Given the description of an element on the screen output the (x, y) to click on. 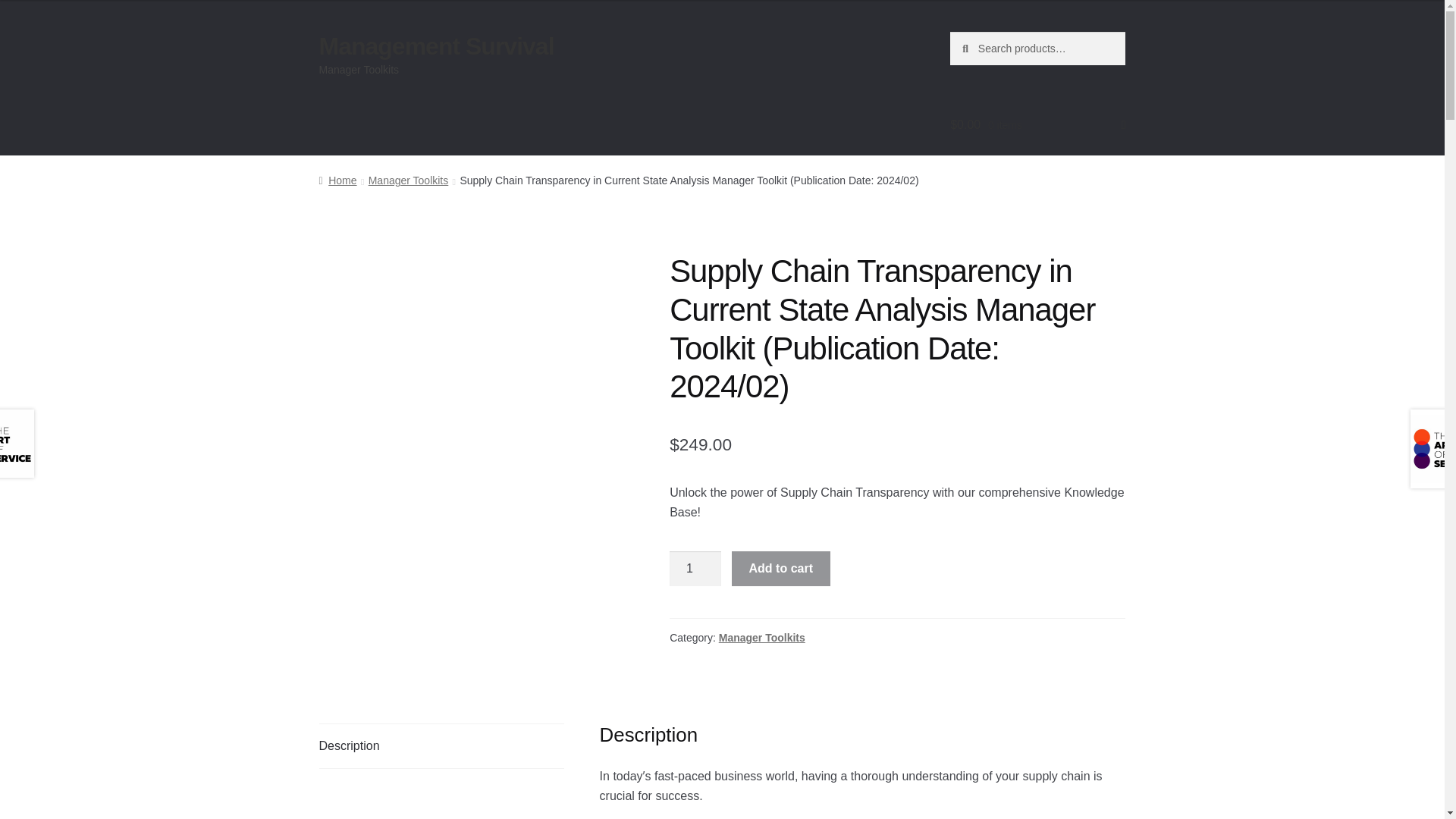
Manager Toolkits (762, 637)
Home (337, 180)
View your shopping cart (1037, 124)
Manager Toolkits (408, 180)
Description (441, 745)
Management Survival (436, 45)
1 (694, 568)
Add to cart (780, 568)
